Given the description of an element on the screen output the (x, y) to click on. 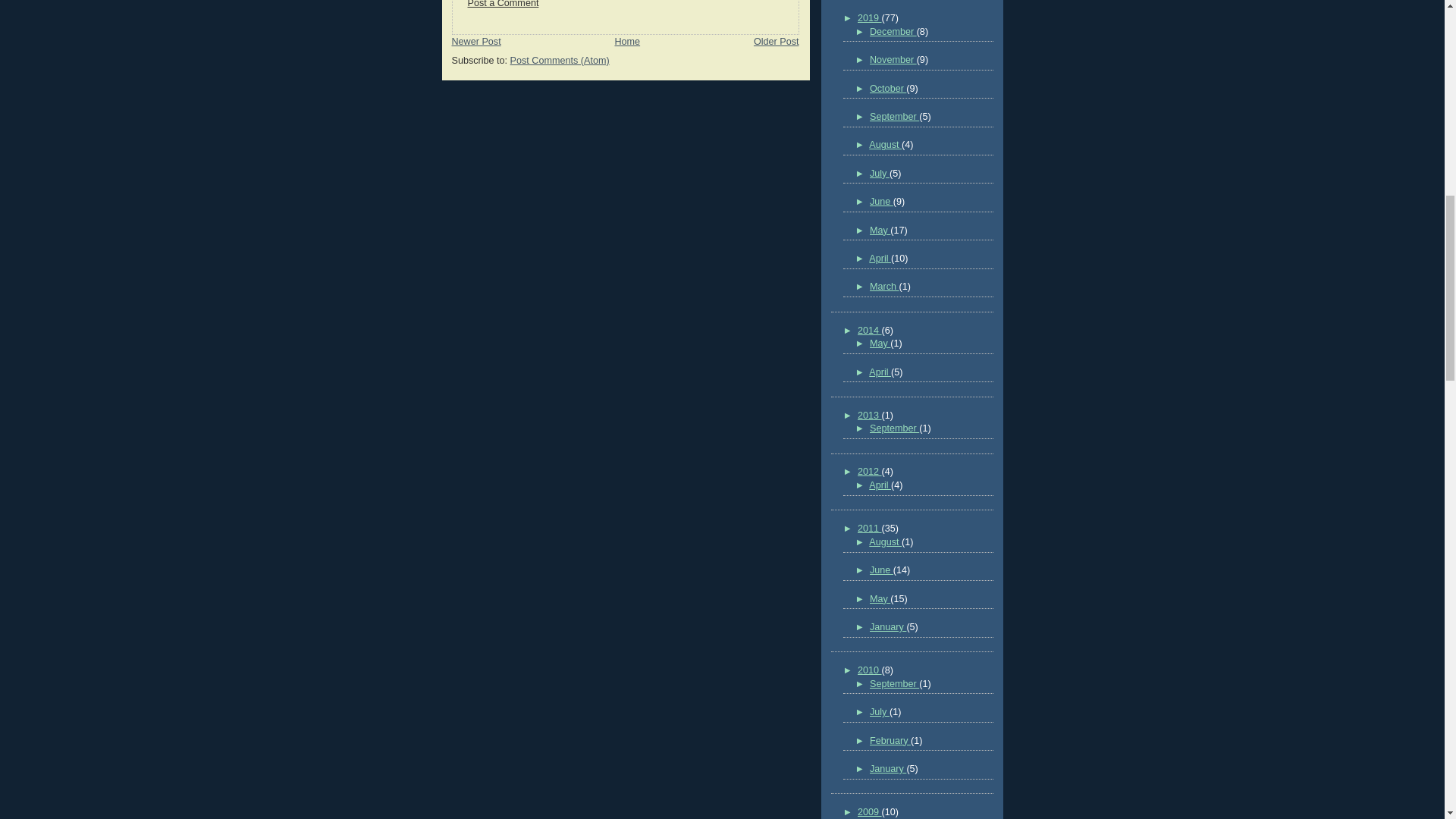
Post a Comment (502, 4)
Home (627, 41)
Newer Post (475, 41)
Older Post (776, 41)
Older Post (776, 41)
Newer Post (475, 41)
